Given the description of an element on the screen output the (x, y) to click on. 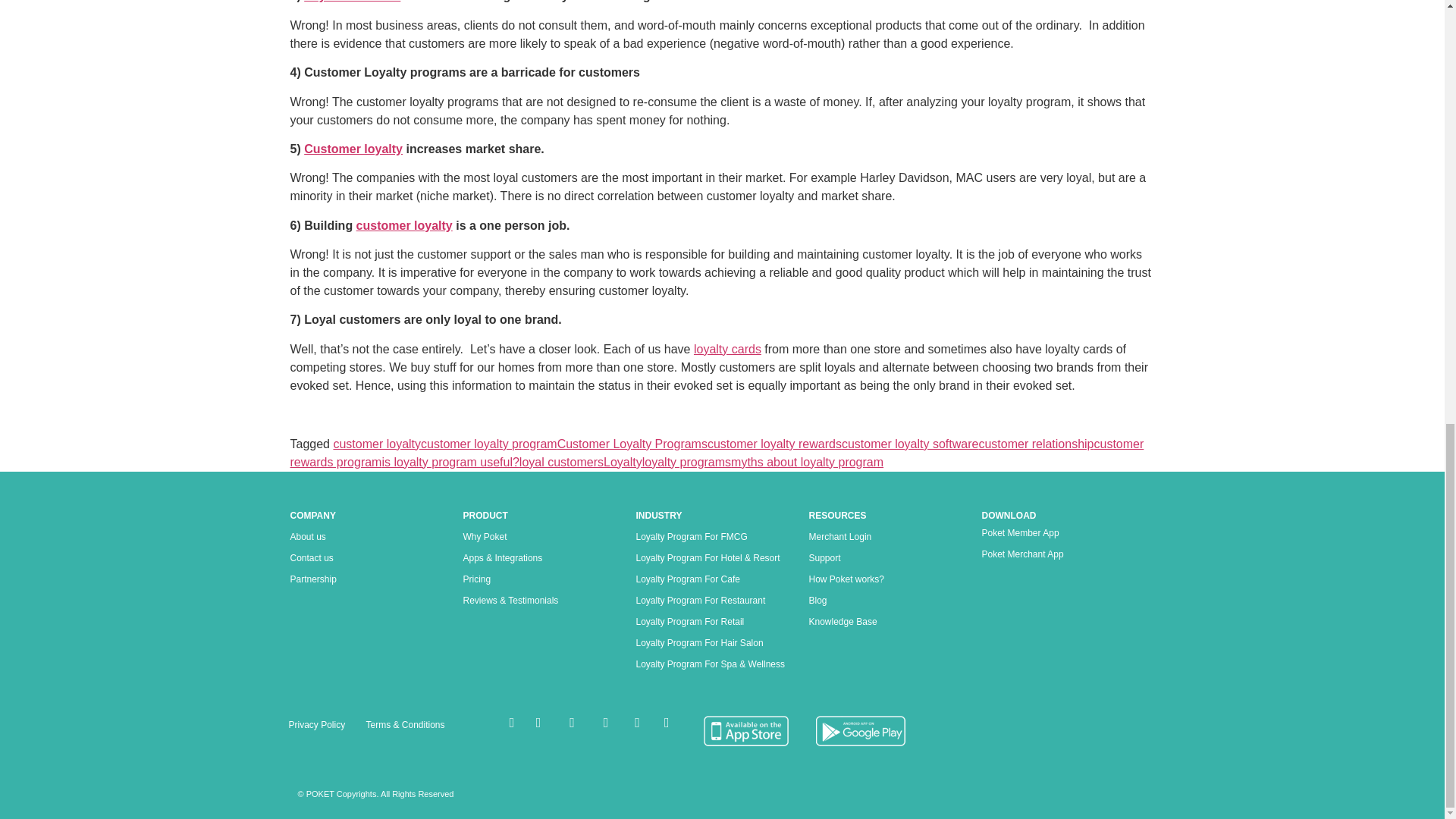
Customer loyalty (353, 148)
customer loyalty rewards (774, 443)
loyalty programs (686, 461)
is loyalty program useful? (449, 461)
loyal customers (561, 461)
customer loyalty program (488, 443)
Loyalty (623, 461)
myths about loyalty program (806, 461)
customer relationship (1035, 443)
customer loyalty software (909, 443)
